Given the description of an element on the screen output the (x, y) to click on. 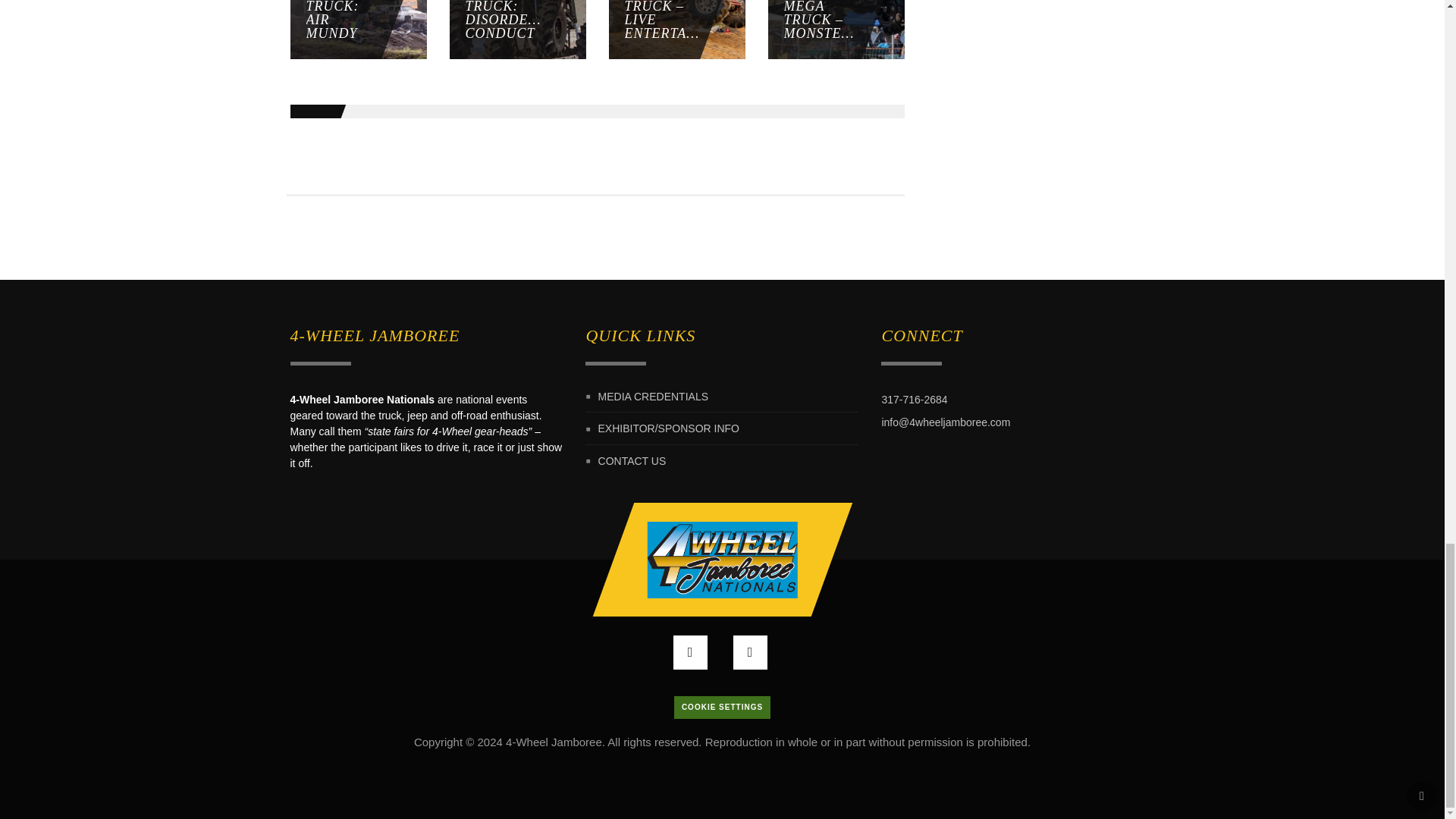
317-716-2684 (913, 398)
MEDIA CREDENTIALS (652, 395)
MEGA TRUCK: AIR MUNDY (320, 29)
CONTACT US (632, 460)
MEGA TRUCK: DISORDERLY CONDUCT (478, 29)
